Given the description of an element on the screen output the (x, y) to click on. 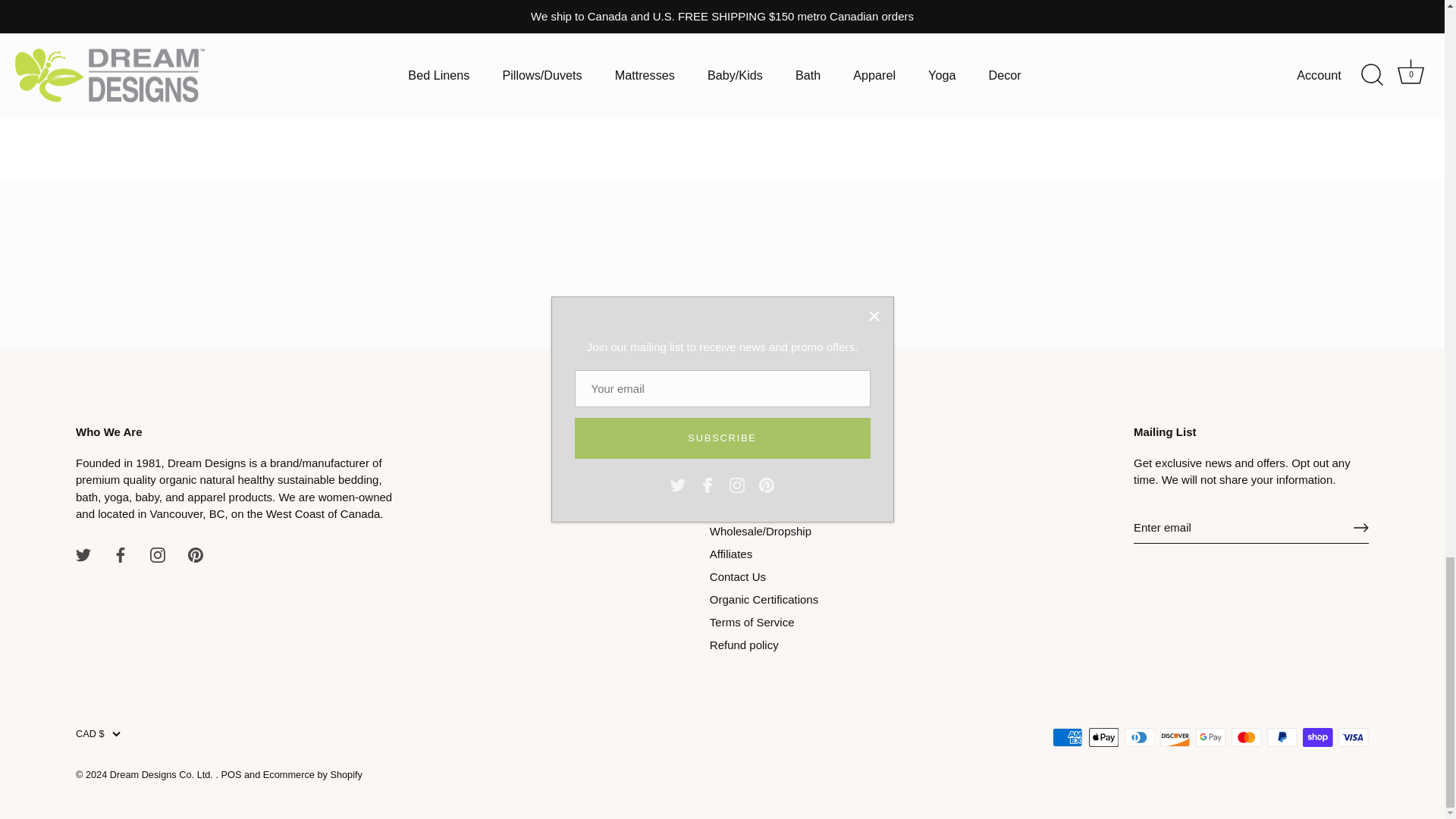
RIGHT ARROW LONG (1361, 527)
Diners Club (1139, 737)
American Express (1067, 737)
Apple Pay (1104, 737)
Twitter (82, 554)
Pinterest (195, 554)
Instagram (157, 554)
